Given the description of an element on the screen output the (x, y) to click on. 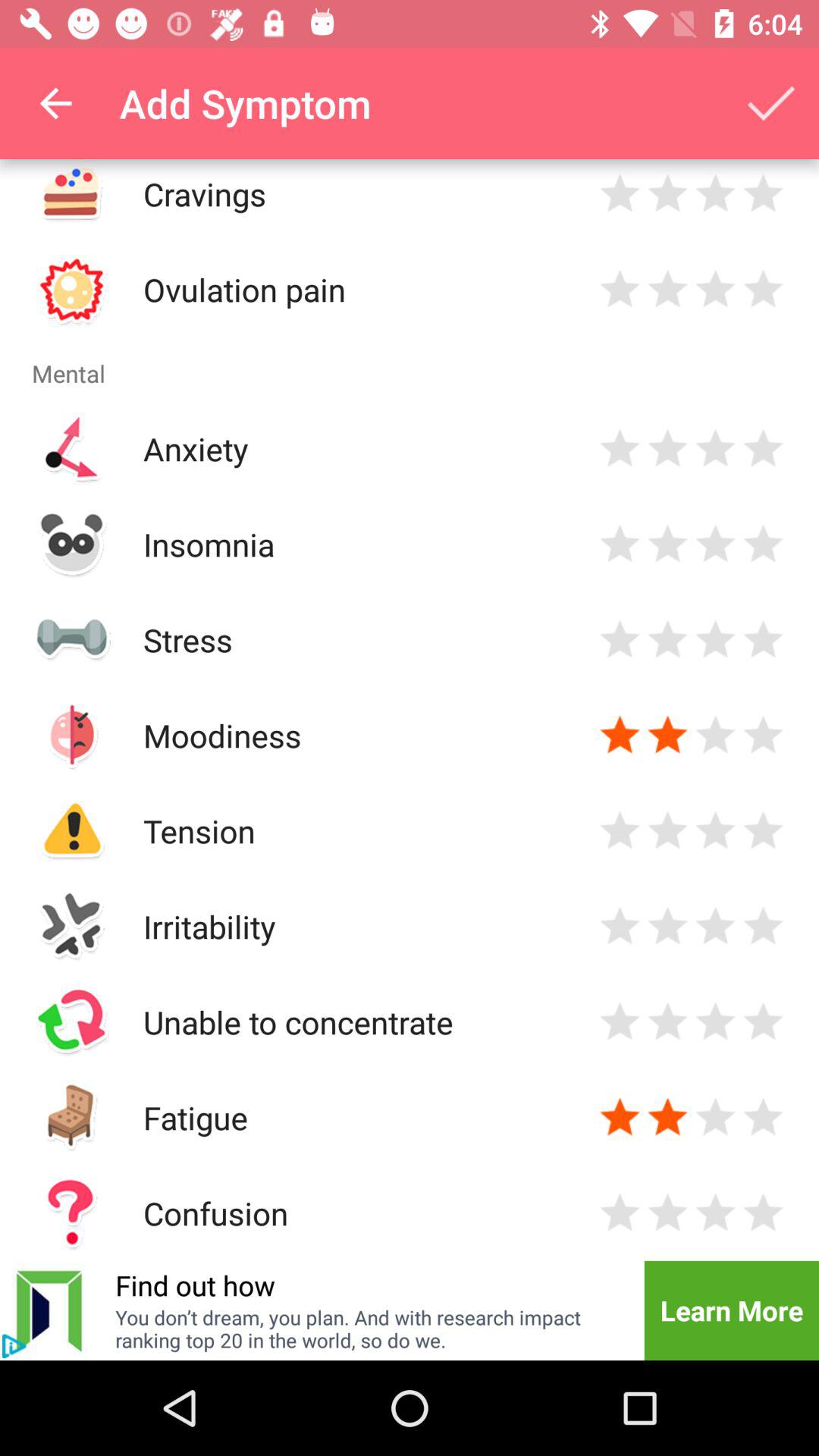
rate moodiness (715, 735)
